Given the description of an element on the screen output the (x, y) to click on. 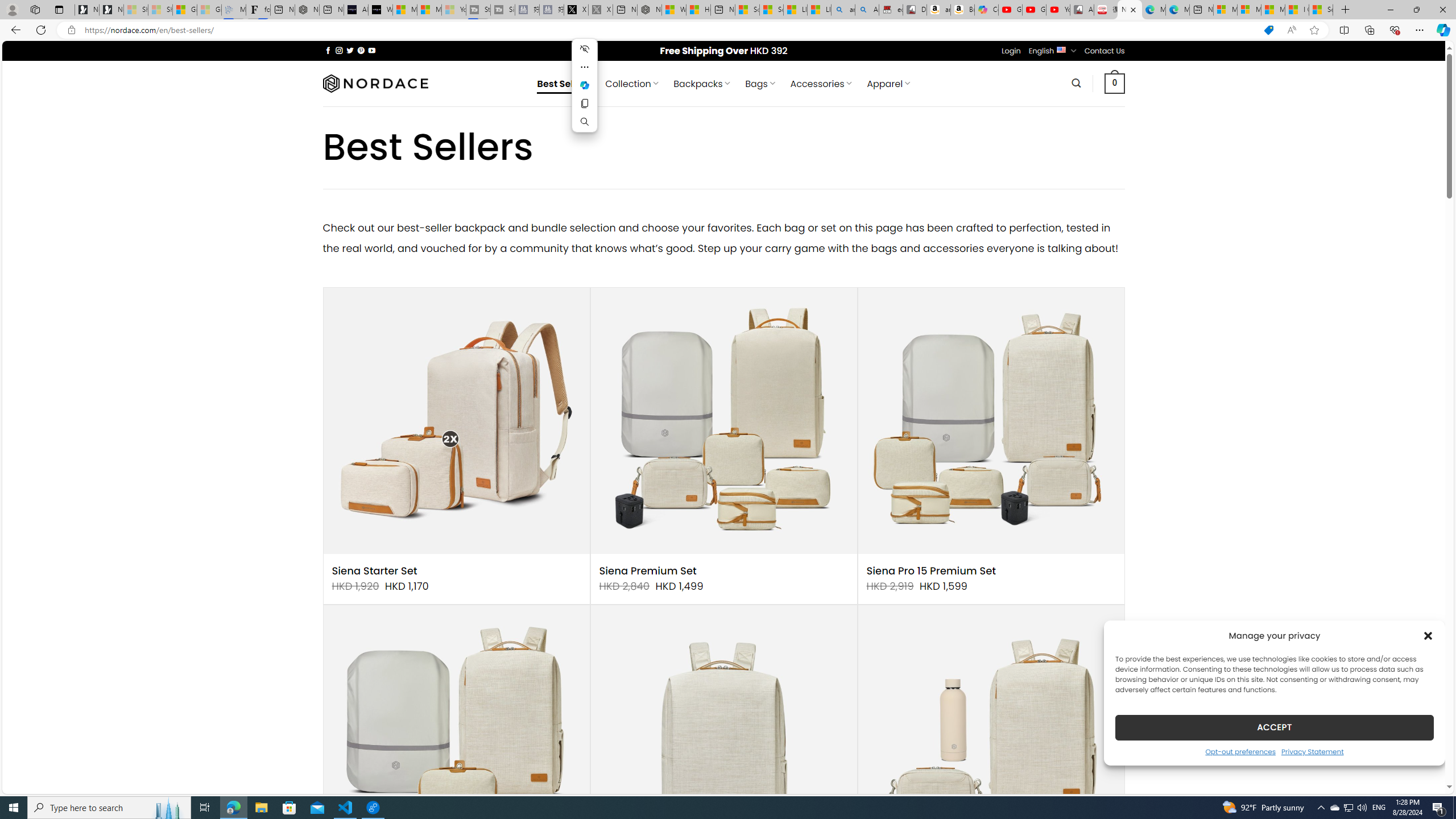
Class: cmplz-close (1428, 635)
Contact Us (1104, 50)
Siena Starter Set (374, 571)
Mini menu on text selection (584, 91)
Nordace - My Account (648, 9)
This site has coupons! Shopping in Microsoft Edge (1268, 29)
